Given the description of an element on the screen output the (x, y) to click on. 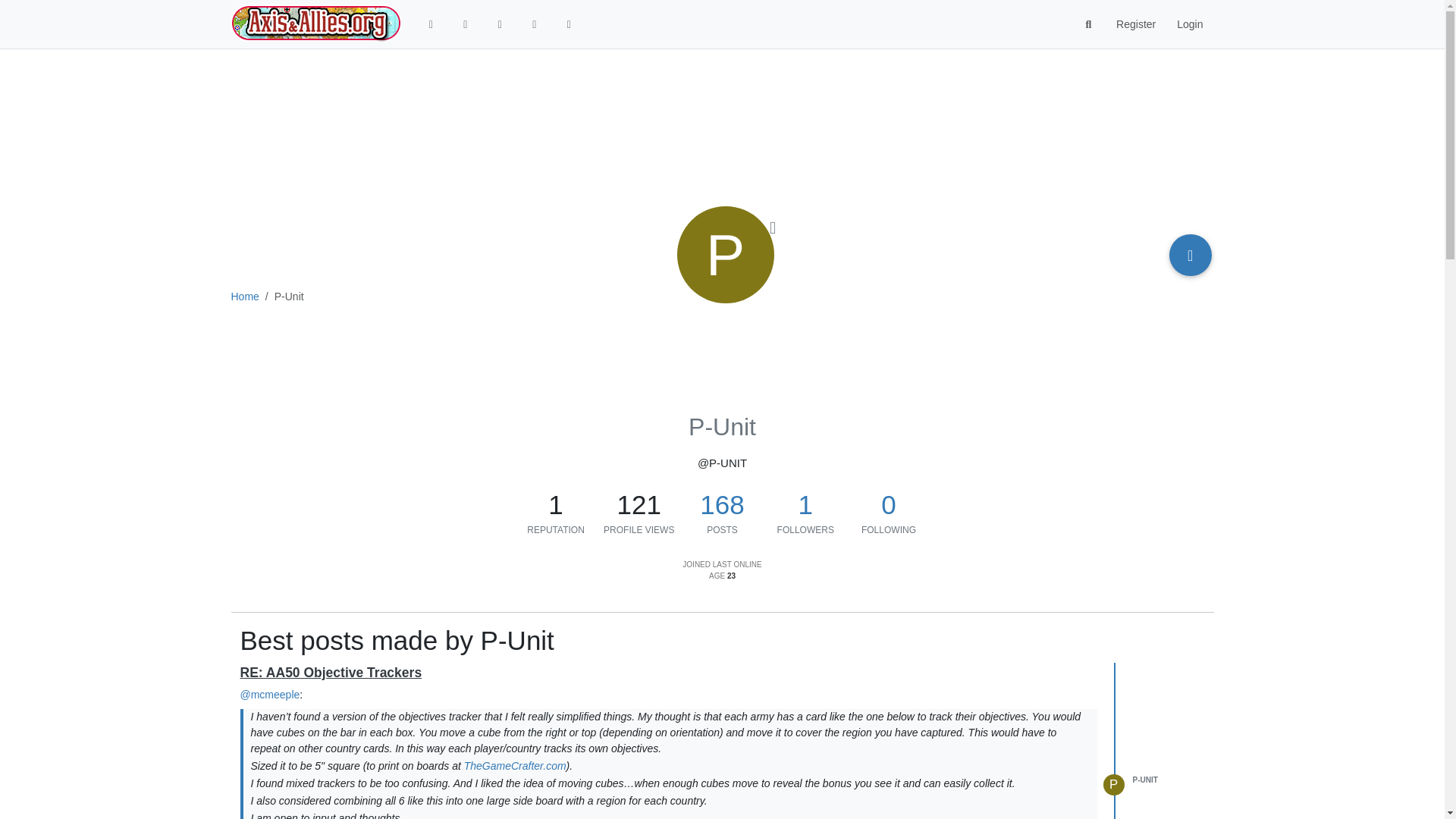
Login (1189, 24)
Recent (498, 24)
P-Unit (725, 254)
Search (1088, 24)
RE: AA50 Objective Trackers (331, 672)
1 (556, 504)
168 (722, 504)
Categories (465, 24)
121 (639, 504)
TheGameCrafter.com (515, 766)
